Given the description of an element on the screen output the (x, y) to click on. 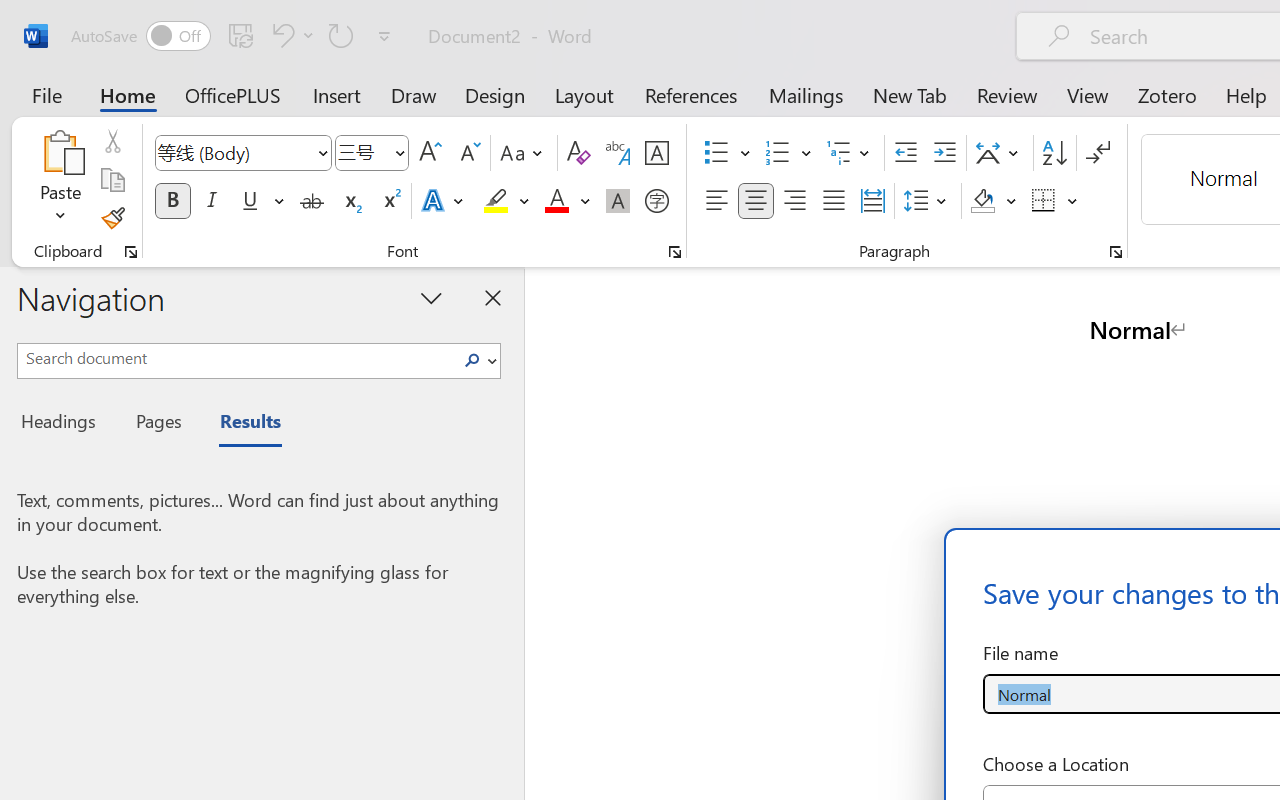
OfficePLUS (233, 94)
New Tab (909, 94)
Shading RGB(0, 0, 0) (982, 201)
Shading (993, 201)
AutoSave (140, 35)
Review (1007, 94)
Bullets (716, 153)
Home (127, 94)
Save (241, 35)
Distributed (872, 201)
Format Painter (112, 218)
Font Size (372, 153)
Undo Style (290, 35)
Paste (60, 151)
Strikethrough (312, 201)
